Given the description of an element on the screen output the (x, y) to click on. 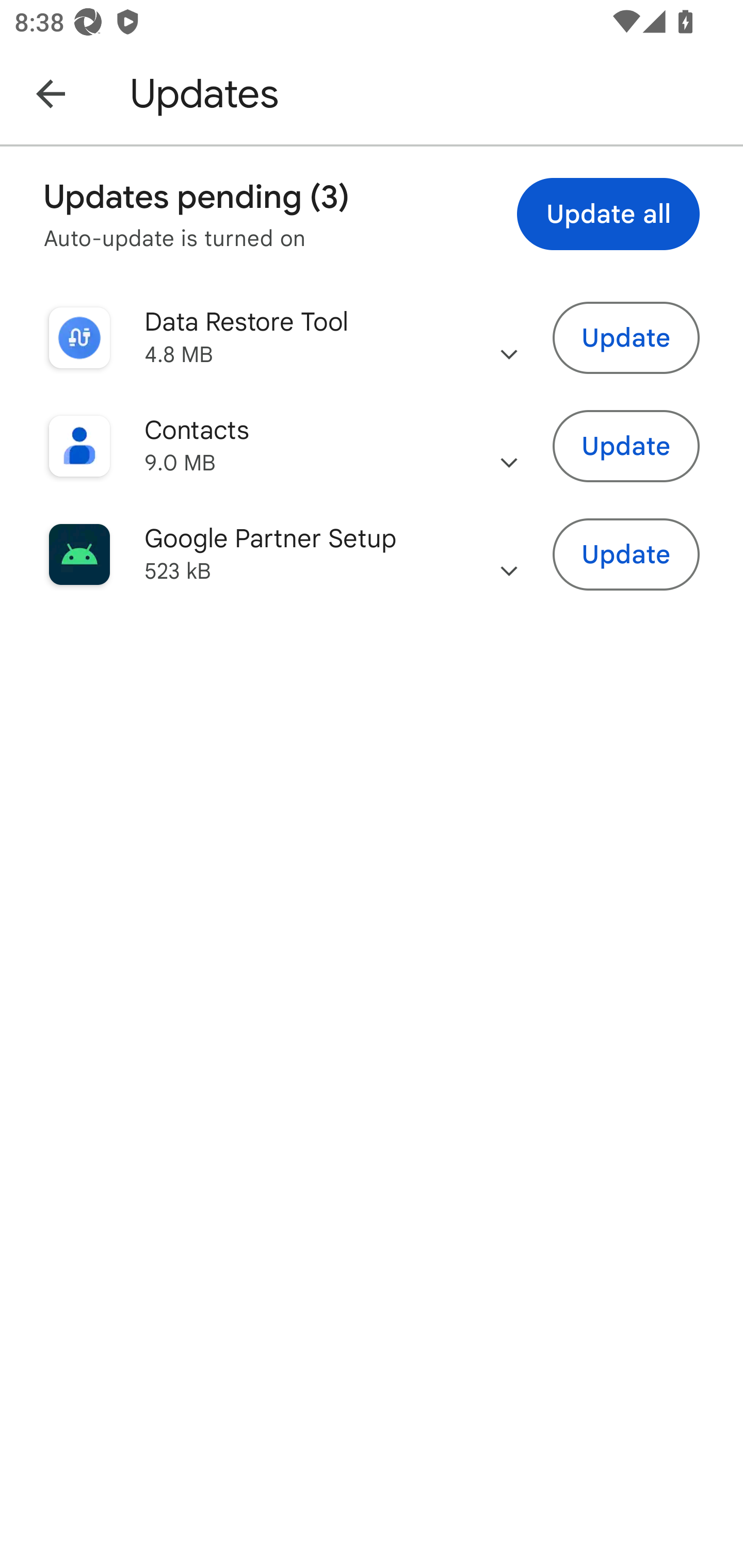
Navigate up (50, 92)
Update all (608, 213)
Changes in the app (508, 337)
Update (625, 337)
Changes in the app (508, 446)
Update (625, 446)
Changes in the app (508, 554)
Update (625, 555)
